Given the description of an element on the screen output the (x, y) to click on. 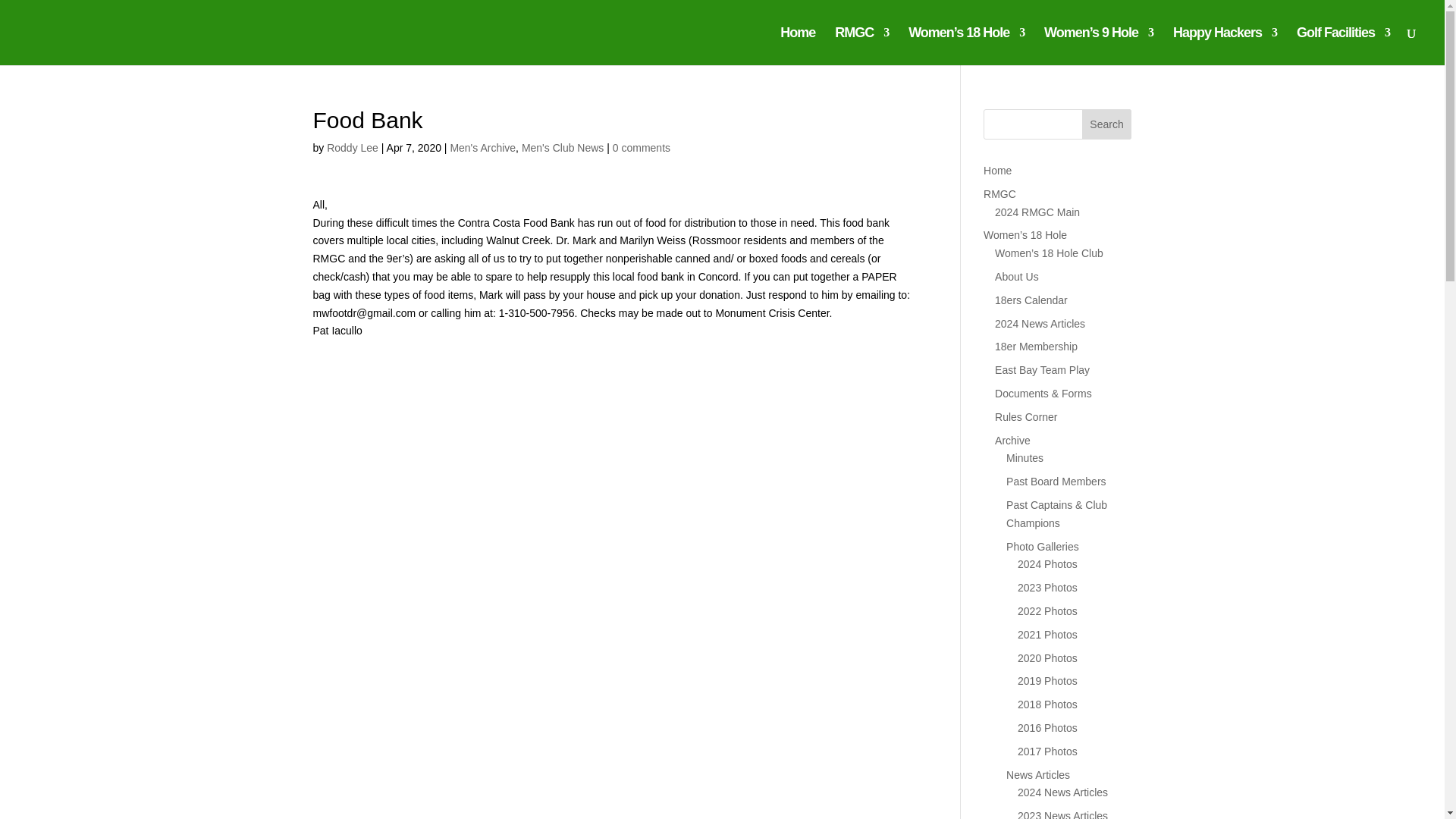
RMGC (861, 46)
Home (797, 46)
Posts by Roddy Lee (352, 147)
Search (1106, 123)
